Given the description of an element on the screen output the (x, y) to click on. 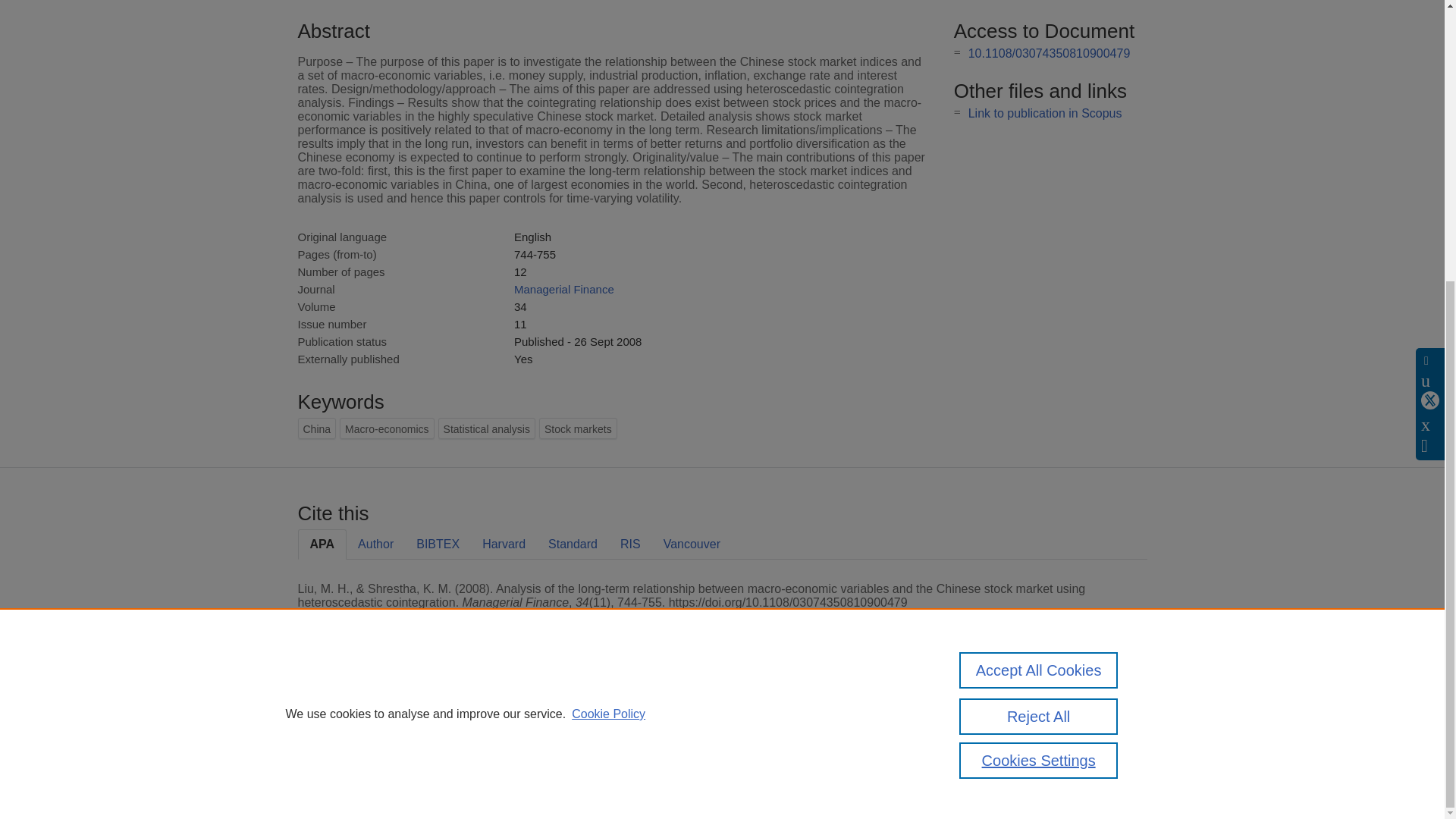
About web accessibility (1008, 740)
Elsevier B.V. (506, 728)
Monash University data protection policy (1009, 713)
Link to publication in Scopus (1045, 113)
Scopus (394, 708)
Contact us (1123, 713)
Cookies Settings (1038, 339)
Pure (362, 708)
Cookies Settings (334, 781)
Managerial Finance (563, 288)
